Given the description of an element on the screen output the (x, y) to click on. 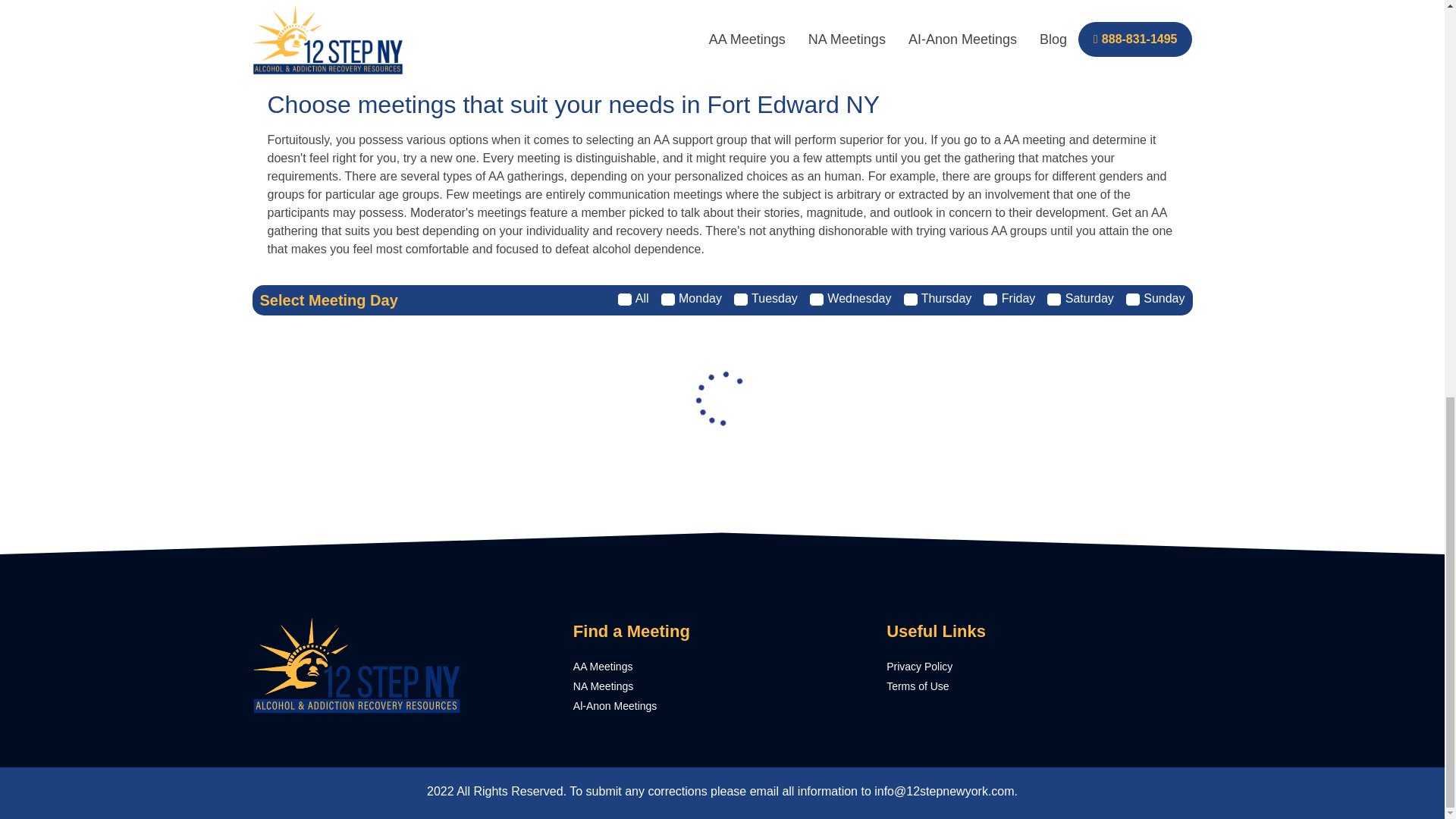
NA Meetings (721, 686)
Privacy Policy (1035, 666)
Al-Anon Meetings (721, 706)
Terms of Use (1035, 686)
AA Meetings (721, 666)
